Given the description of an element on the screen output the (x, y) to click on. 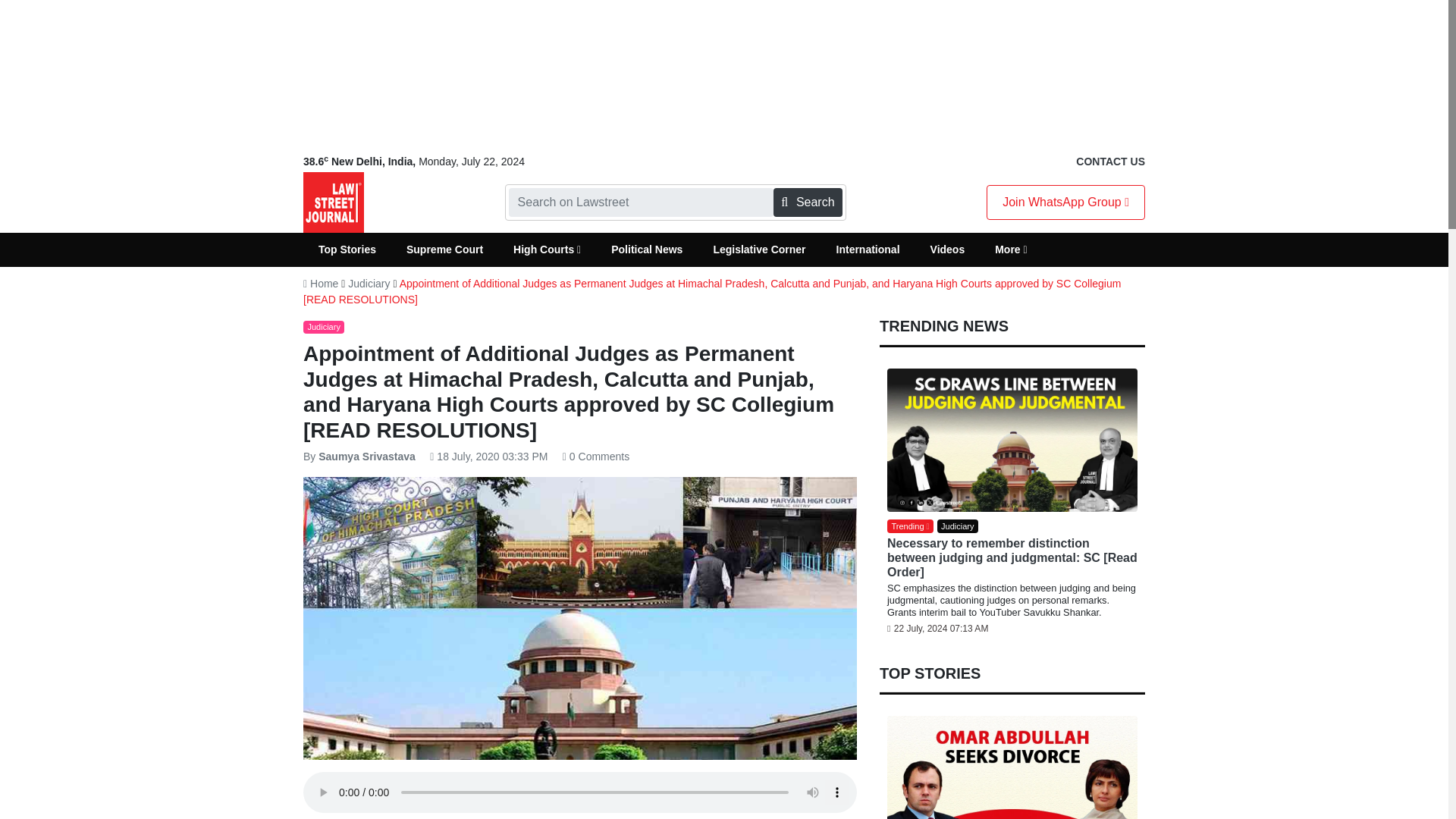
Political News (646, 249)
Legislative Corner (759, 249)
Supreme Court (444, 249)
LawStreet Journal (333, 201)
International (868, 249)
More (1010, 249)
Search (807, 202)
High Courts (546, 249)
Top Stories (346, 249)
Videos (947, 249)
Join WhatsApp Group (1065, 202)
CONTACT US (1109, 161)
